Given the description of an element on the screen output the (x, y) to click on. 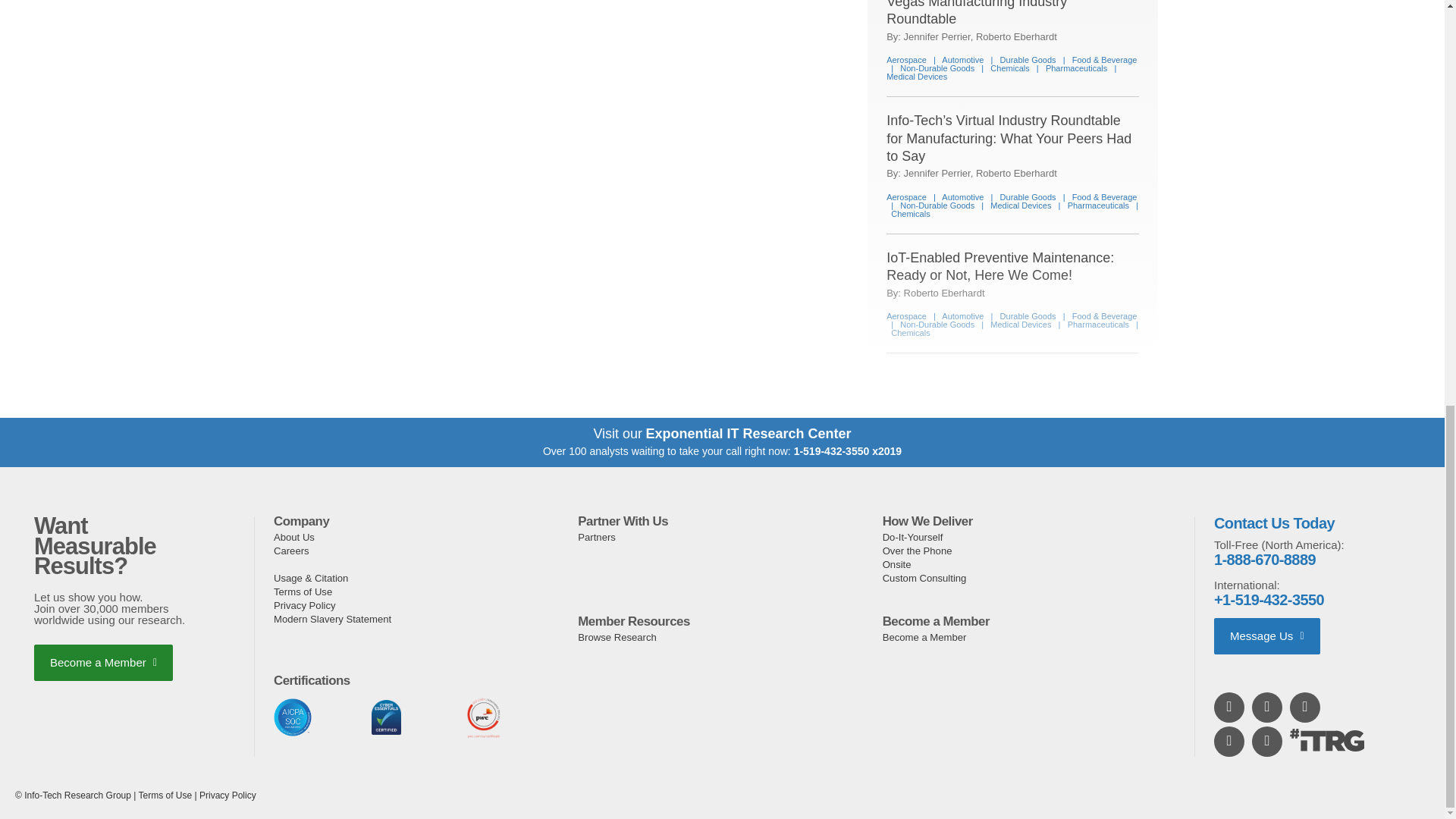
Watch us on YouTube (1267, 707)
Folow us on Twitter (1305, 707)
Folow us on TikTok (1267, 740)
Hashtag ITRG icon (1327, 739)
Find us on LinkedIn (1230, 707)
Folow us on Instagram (1230, 740)
